Given the description of an element on the screen output the (x, y) to click on. 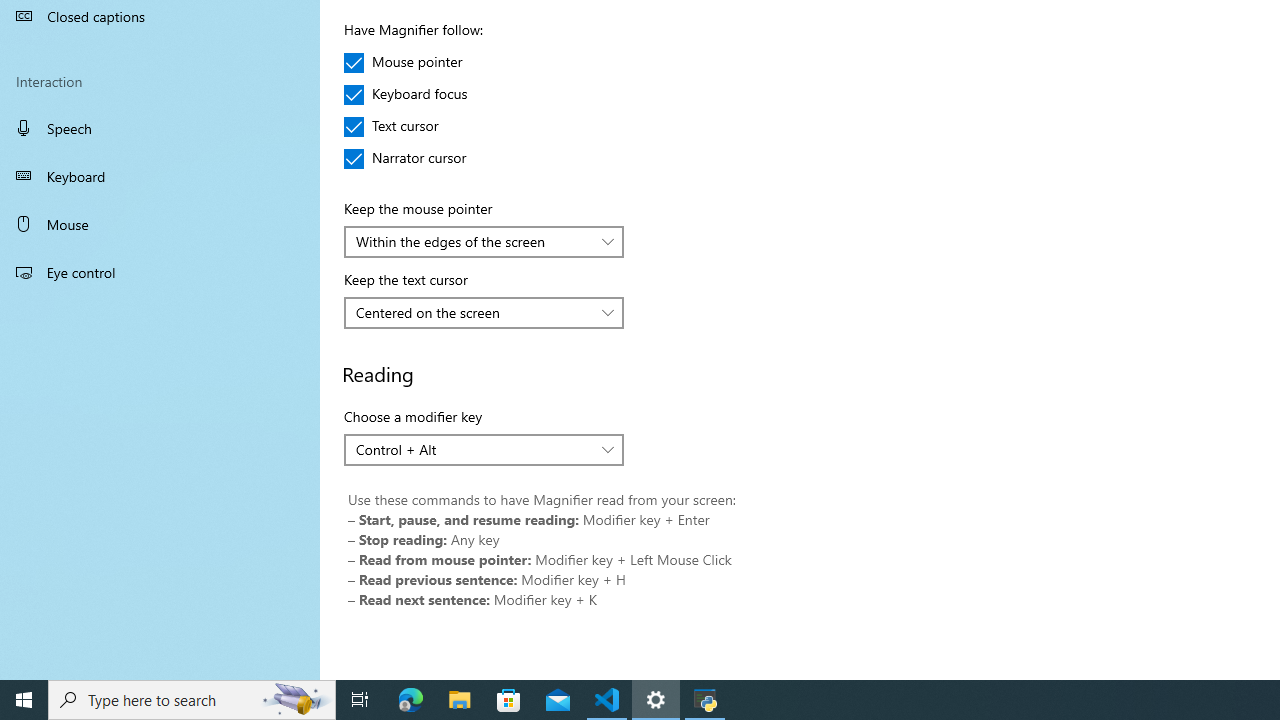
Keyboard (160, 175)
Within the edges of the screen (473, 241)
Keyboard focus (406, 94)
Settings - 1 running window (656, 699)
